Given the description of an element on the screen output the (x, y) to click on. 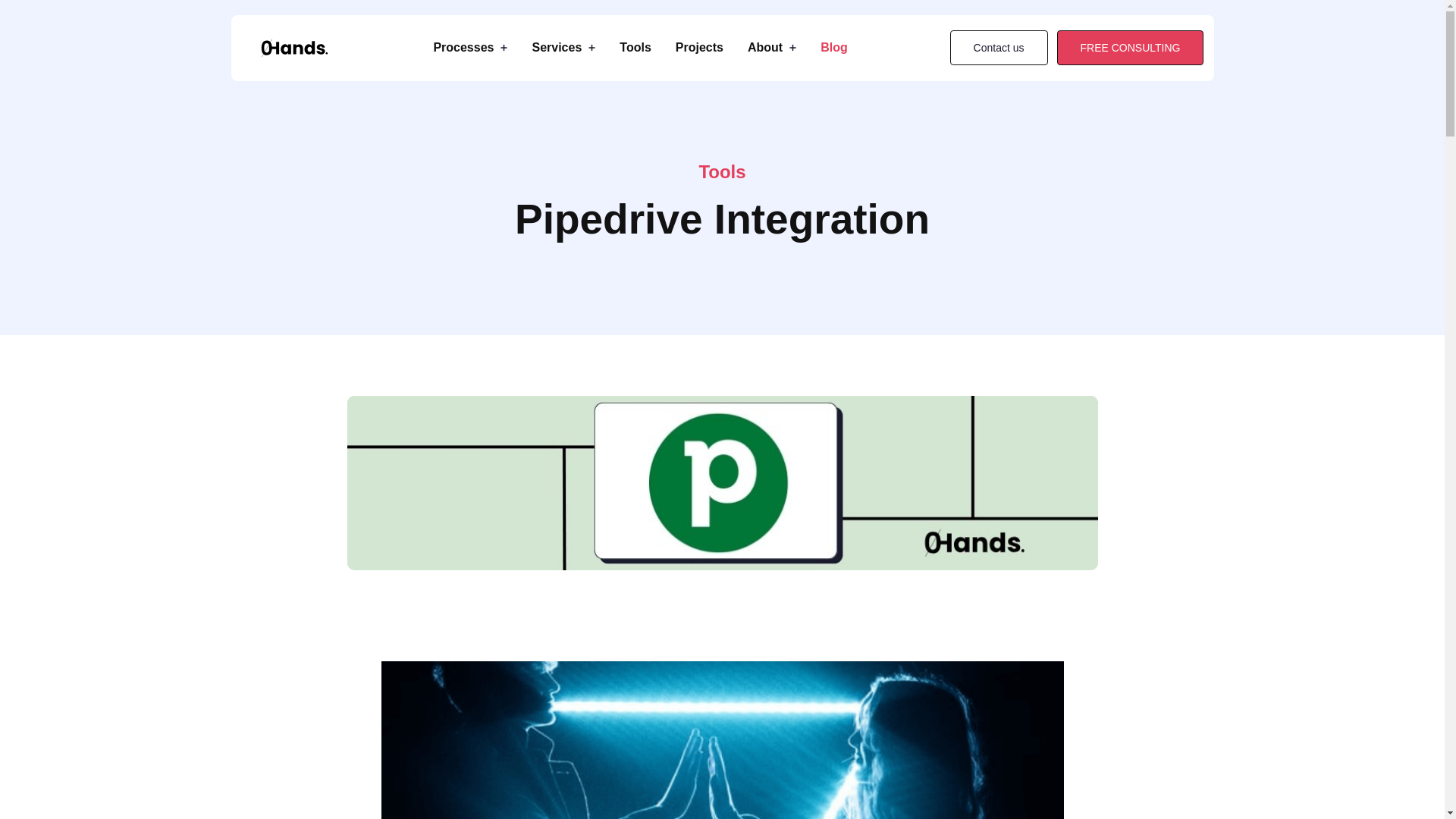
About (772, 47)
FREE CONSULTING (1130, 47)
Projects (699, 47)
Processes (469, 47)
Services (563, 47)
Blog (834, 47)
Tools (635, 47)
Contact us (999, 47)
